Given the description of an element on the screen output the (x, y) to click on. 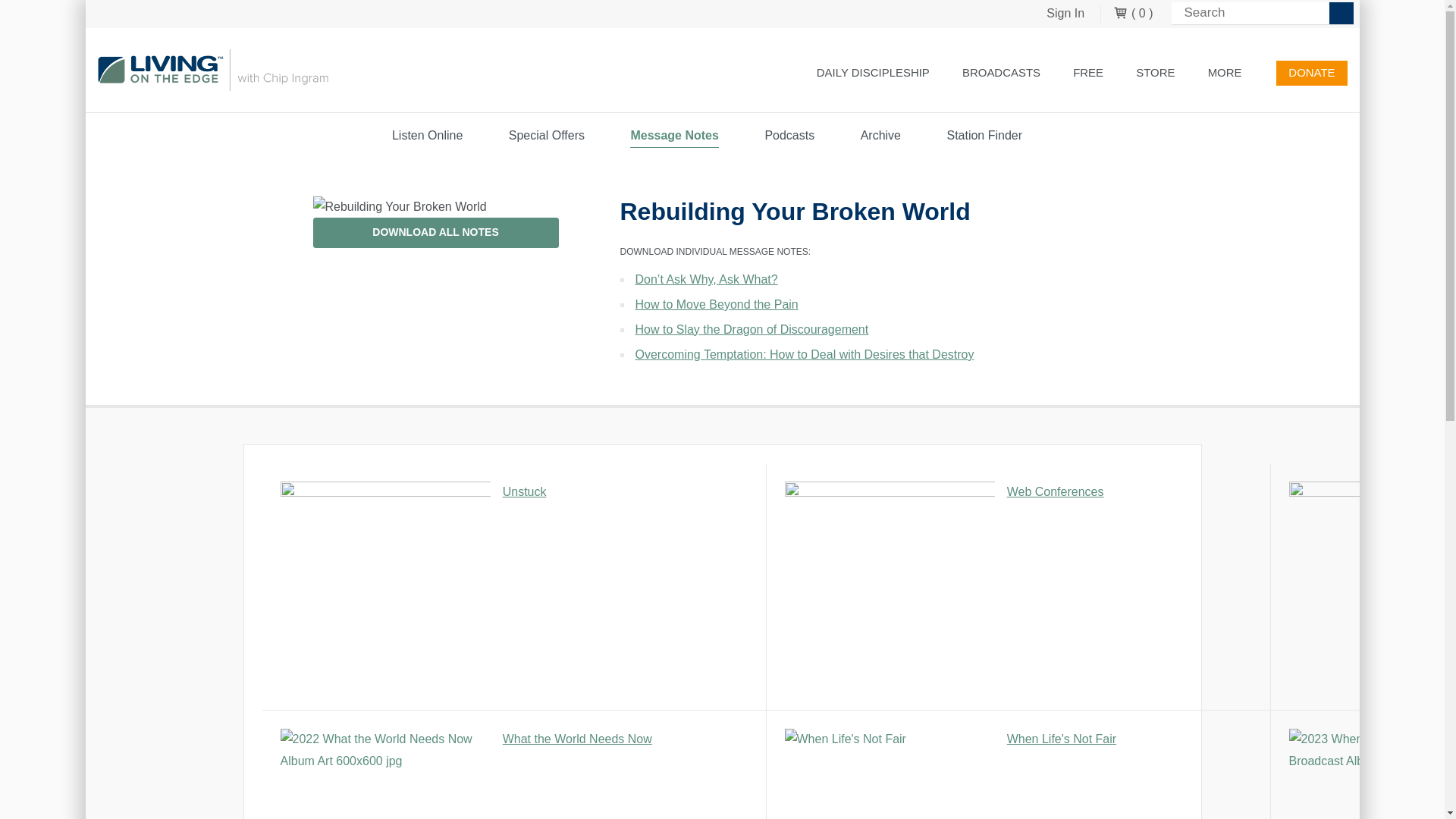
Free Resources (1088, 73)
DAILY DISCIPLESHIP (873, 73)
STORE (1155, 73)
Search for: (1261, 13)
MORE (1231, 73)
More (1231, 73)
View your shopping cart (1133, 13)
Listen Online (1001, 73)
DONATE (1311, 72)
Living on the Edge (212, 69)
